Given the description of an element on the screen output the (x, y) to click on. 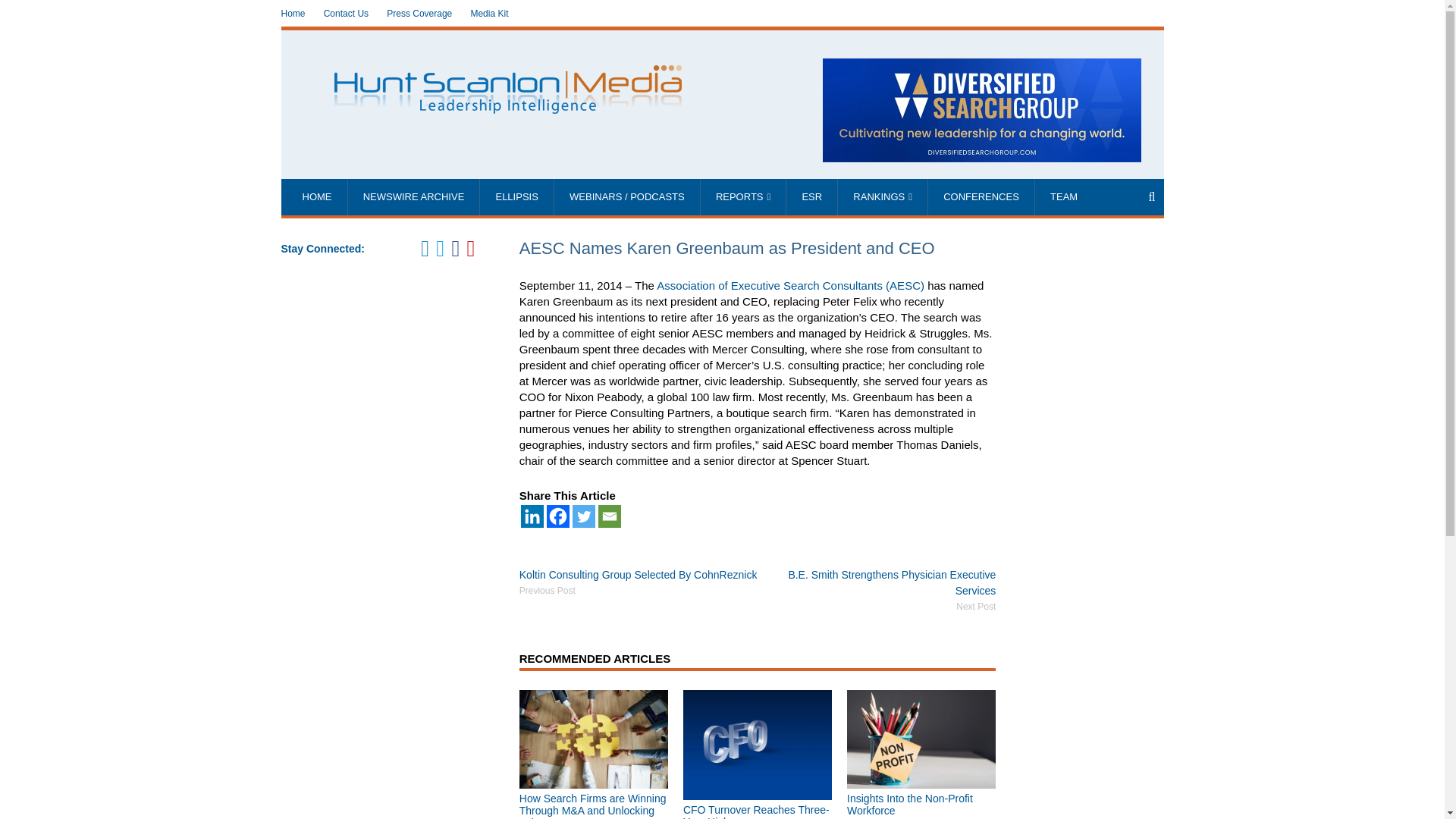
Twitter (583, 516)
Media Kit (489, 13)
Press Coverage (419, 13)
NEWSWIRE ARCHIVE (413, 197)
HOME (316, 197)
REPORTS (743, 197)
ELLIPSIS (516, 197)
Facebook (558, 516)
Webinars and podcasts on talent and recruiting trends (627, 197)
